Given the description of an element on the screen output the (x, y) to click on. 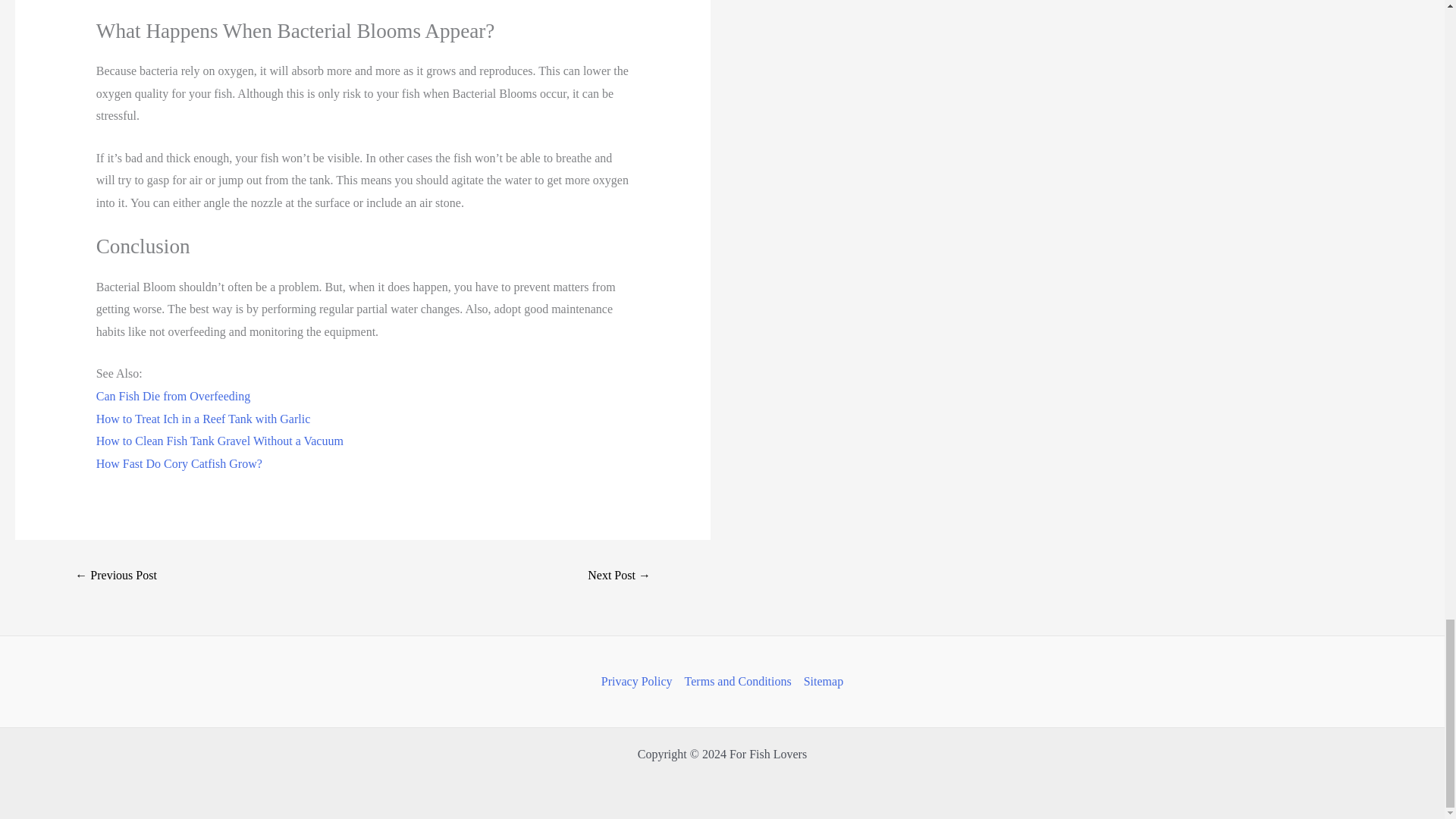
How to Raise Phosphate in a Reef Tank (618, 575)
Sitemap (820, 681)
How Fast Do Cory Catfish Grow? (179, 463)
How Do You Test Fish Tank Water without a Kit? (115, 575)
How to Treat Ich in a Reef Tank with Garlic (203, 418)
Can Fish Die from Overfeeding (173, 395)
Privacy Policy (639, 681)
How to Clean Fish Tank Gravel Without a Vacuum (219, 440)
Terms and Conditions (737, 681)
